Given the description of an element on the screen output the (x, y) to click on. 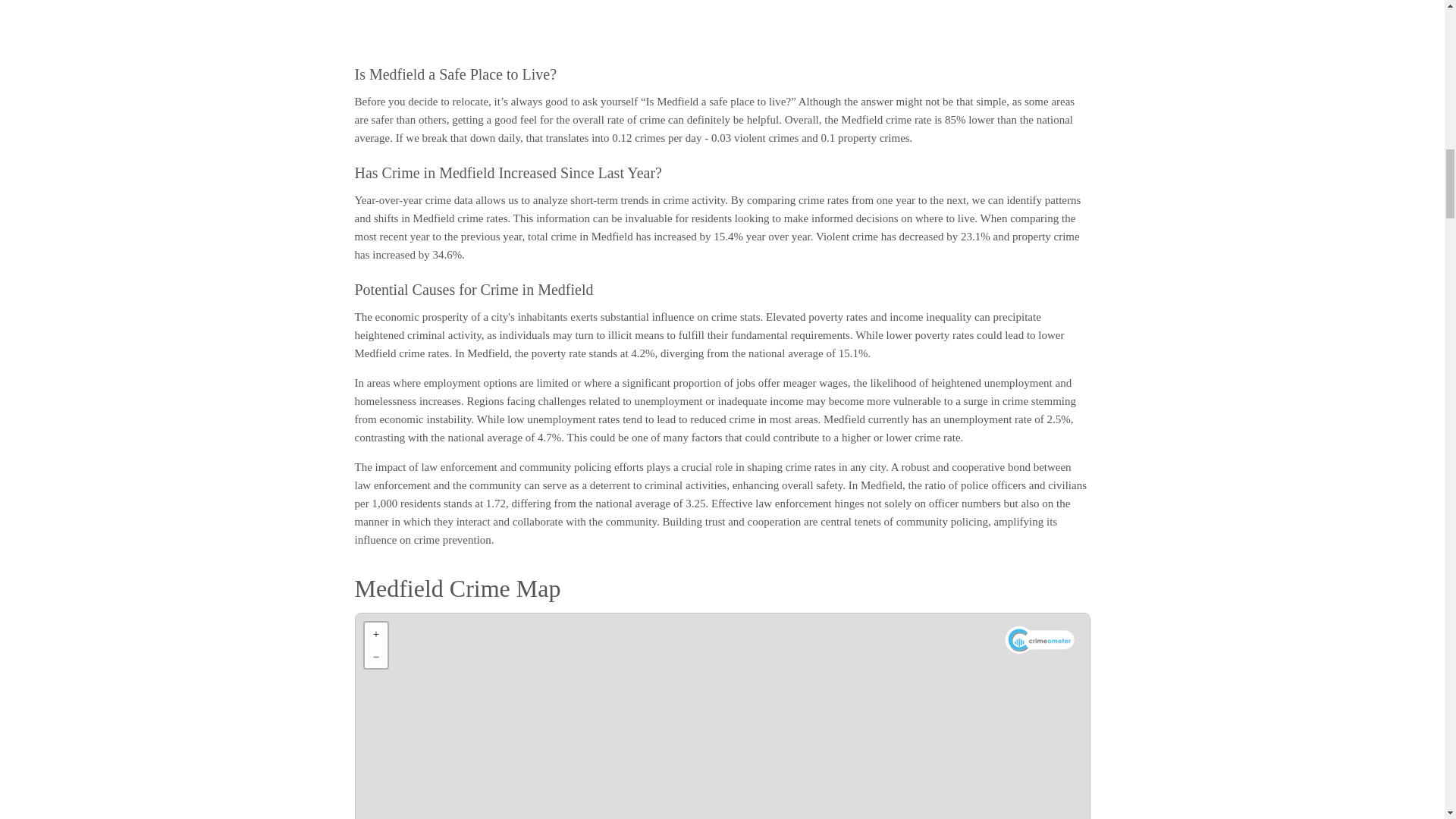
Zoom out (375, 656)
Zoom in (375, 633)
